Given the description of an element on the screen output the (x, y) to click on. 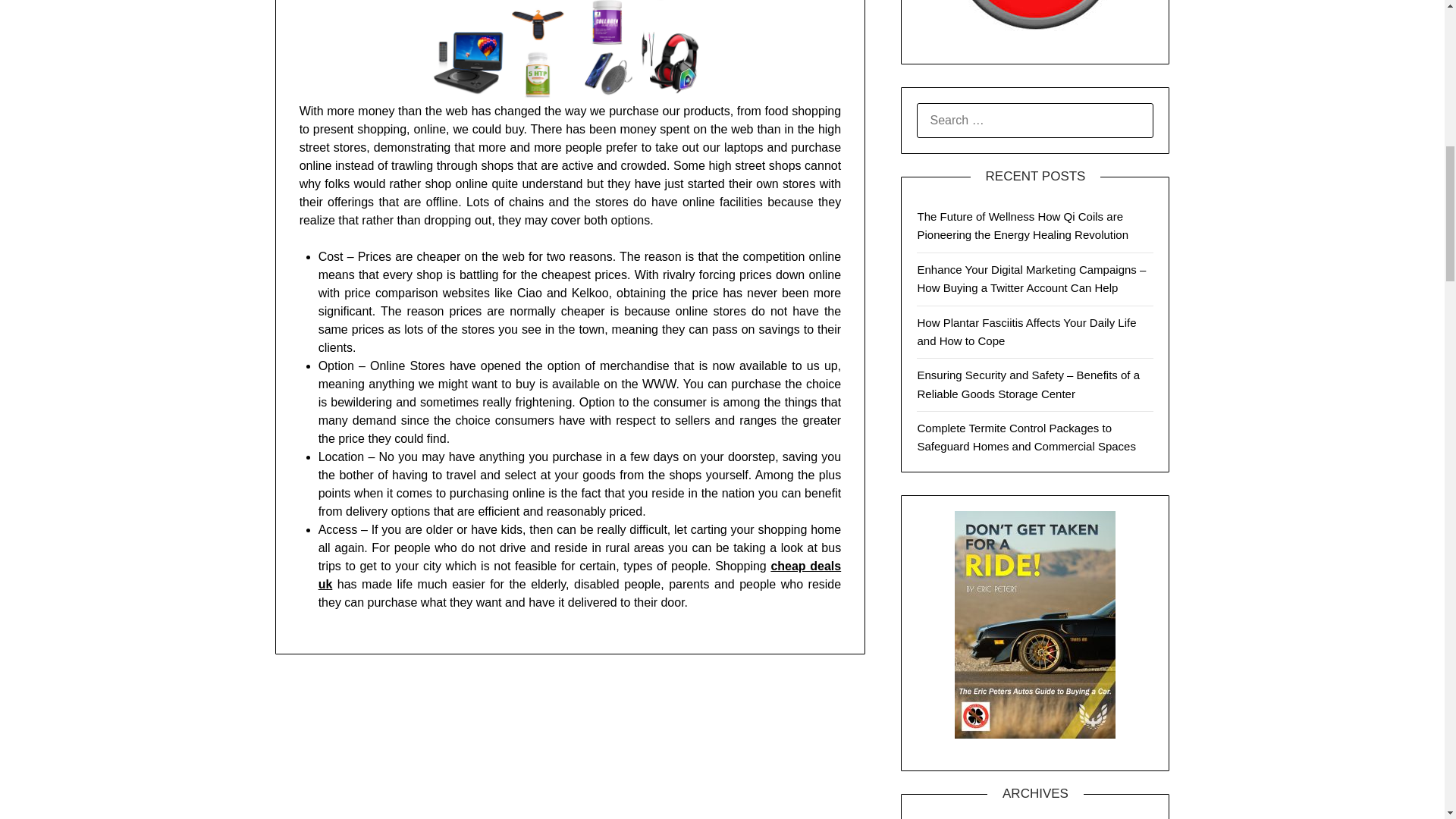
cheap deals uk (579, 574)
